Given the description of an element on the screen output the (x, y) to click on. 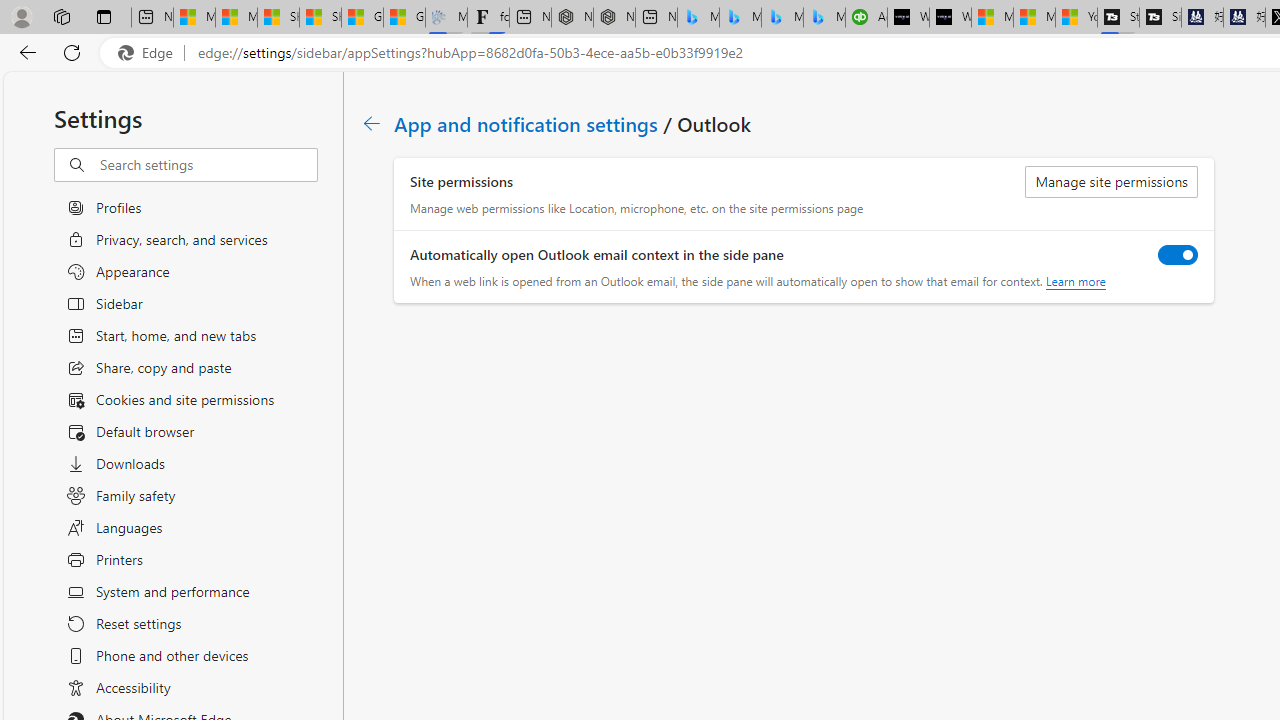
App and notification settings (527, 123)
Search settings (207, 165)
Microsoft Bing Travel - Stays in Bangkok, Bangkok, Thailand (740, 17)
Edge (150, 53)
Shanghai, China weather forecast | Microsoft Weather (319, 17)
Nordace - #1 Japanese Best-Seller - Siena Smart Backpack (613, 17)
